Given the description of an element on the screen output the (x, y) to click on. 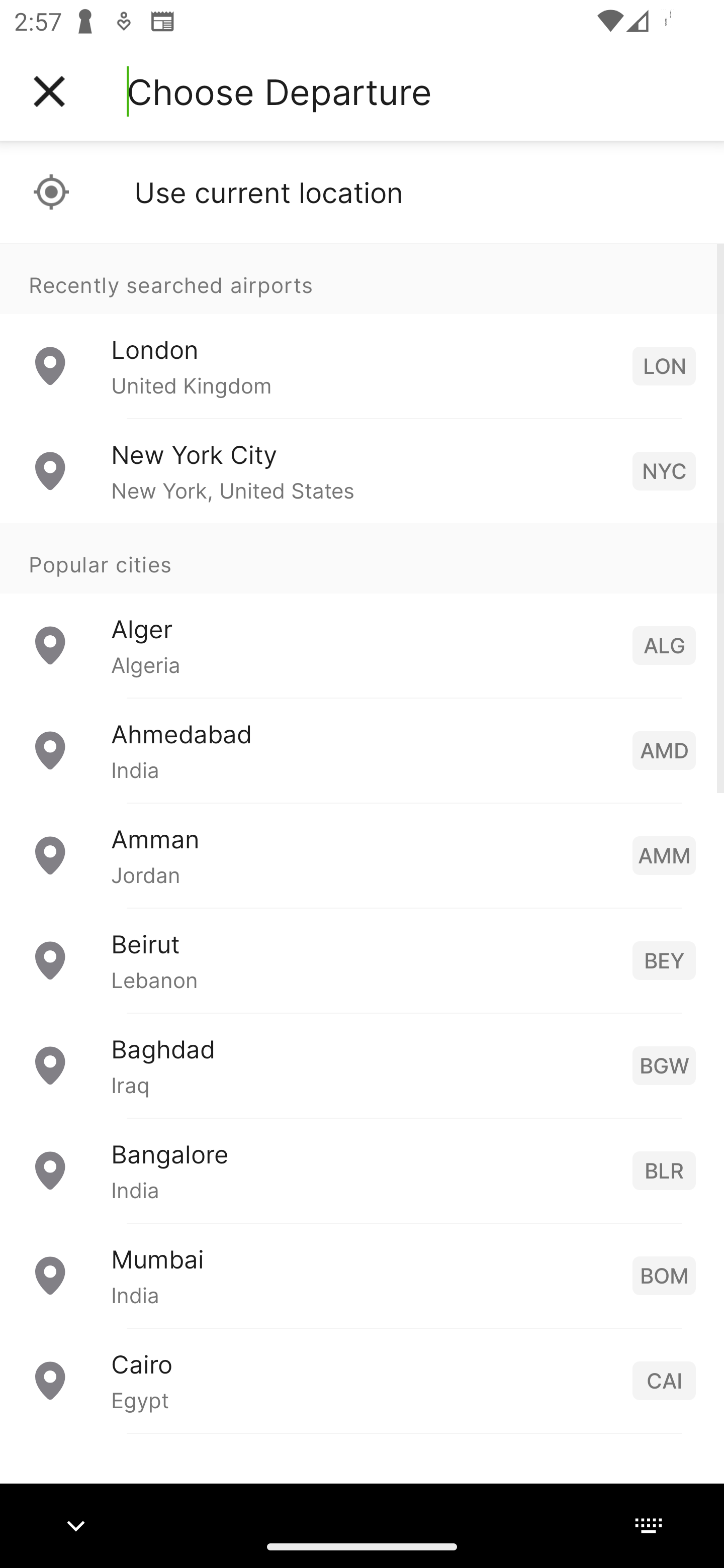
Choose Departure (279, 91)
Use current location (362, 192)
Recently searched airports (362, 278)
New York City New York, United States NYC (362, 470)
Popular cities Alger Algeria ALG (362, 610)
Popular cities (362, 558)
Ahmedabad India AMD (362, 749)
Amman Jordan AMM (362, 854)
Beirut Lebanon BEY (362, 959)
Baghdad Iraq BGW (362, 1064)
Bangalore India BLR (362, 1170)
Mumbai India BOM (362, 1275)
Cairo Egypt CAI (362, 1380)
